Given the description of an element on the screen output the (x, y) to click on. 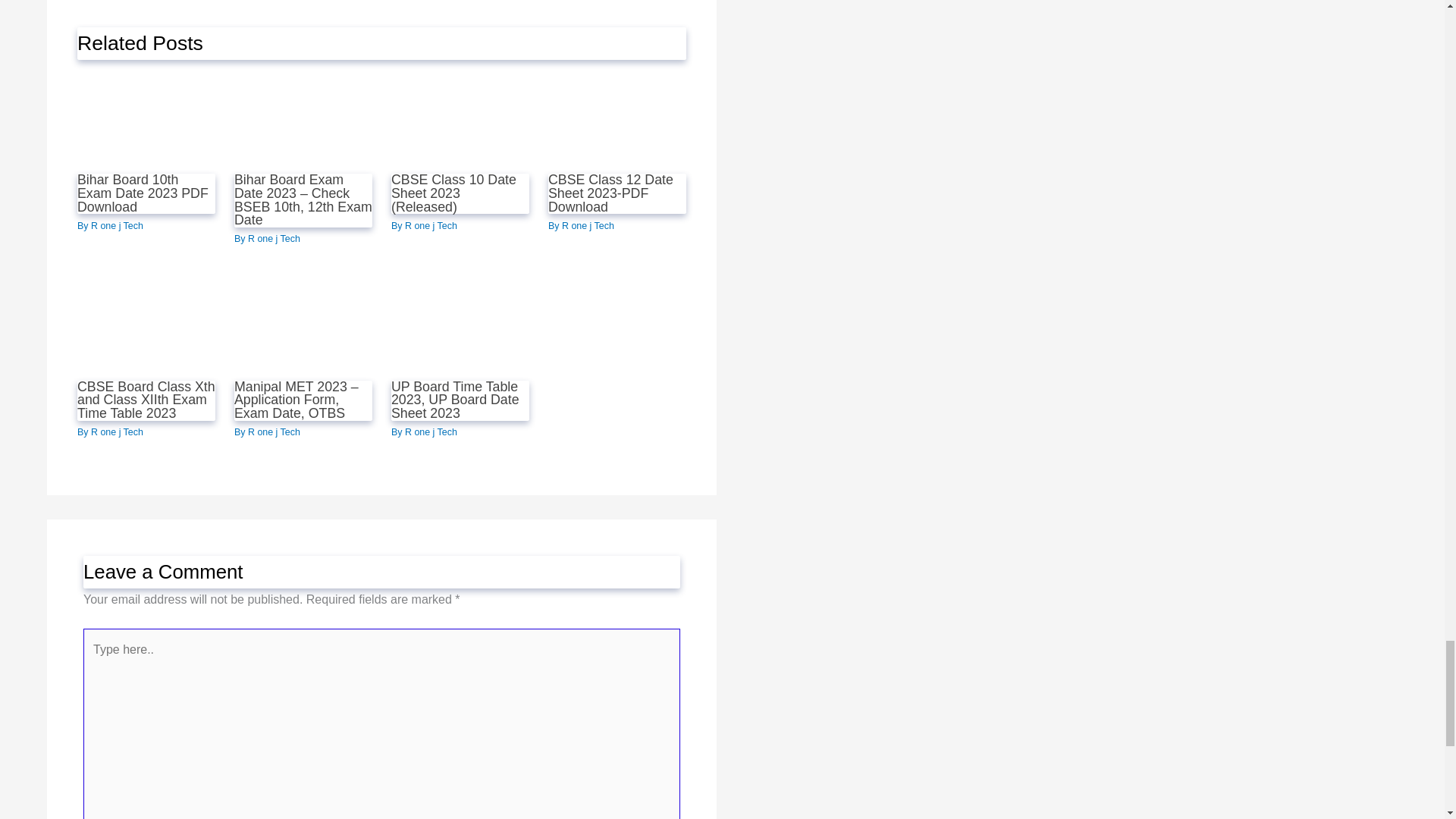
View all posts by R one j Tech (116, 431)
Bihar Board 10th Exam Date 2023 PDF Download (142, 192)
View all posts by R one j Tech (430, 431)
R one j Tech (116, 225)
View all posts by R one j Tech (273, 431)
View all posts by R one j Tech (273, 238)
R one j Tech (273, 238)
View all posts by R one j Tech (588, 225)
View all posts by R one j Tech (116, 225)
View all posts by R one j Tech (430, 225)
